Given the description of an element on the screen output the (x, y) to click on. 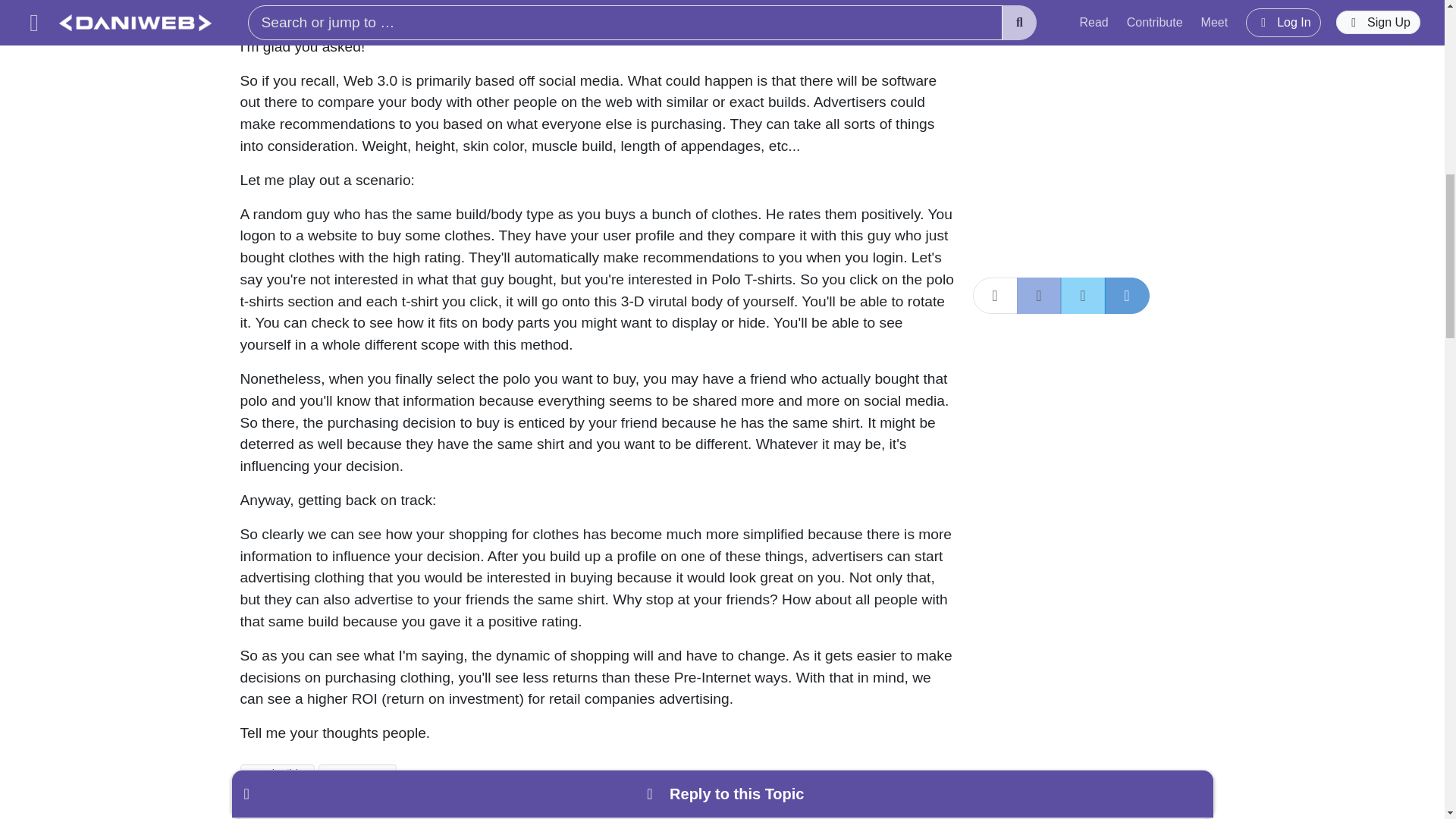
ecommerce (357, 772)
advertising (277, 772)
Share (938, 810)
0 (271, 810)
0 (334, 810)
